Given the description of an element on the screen output the (x, y) to click on. 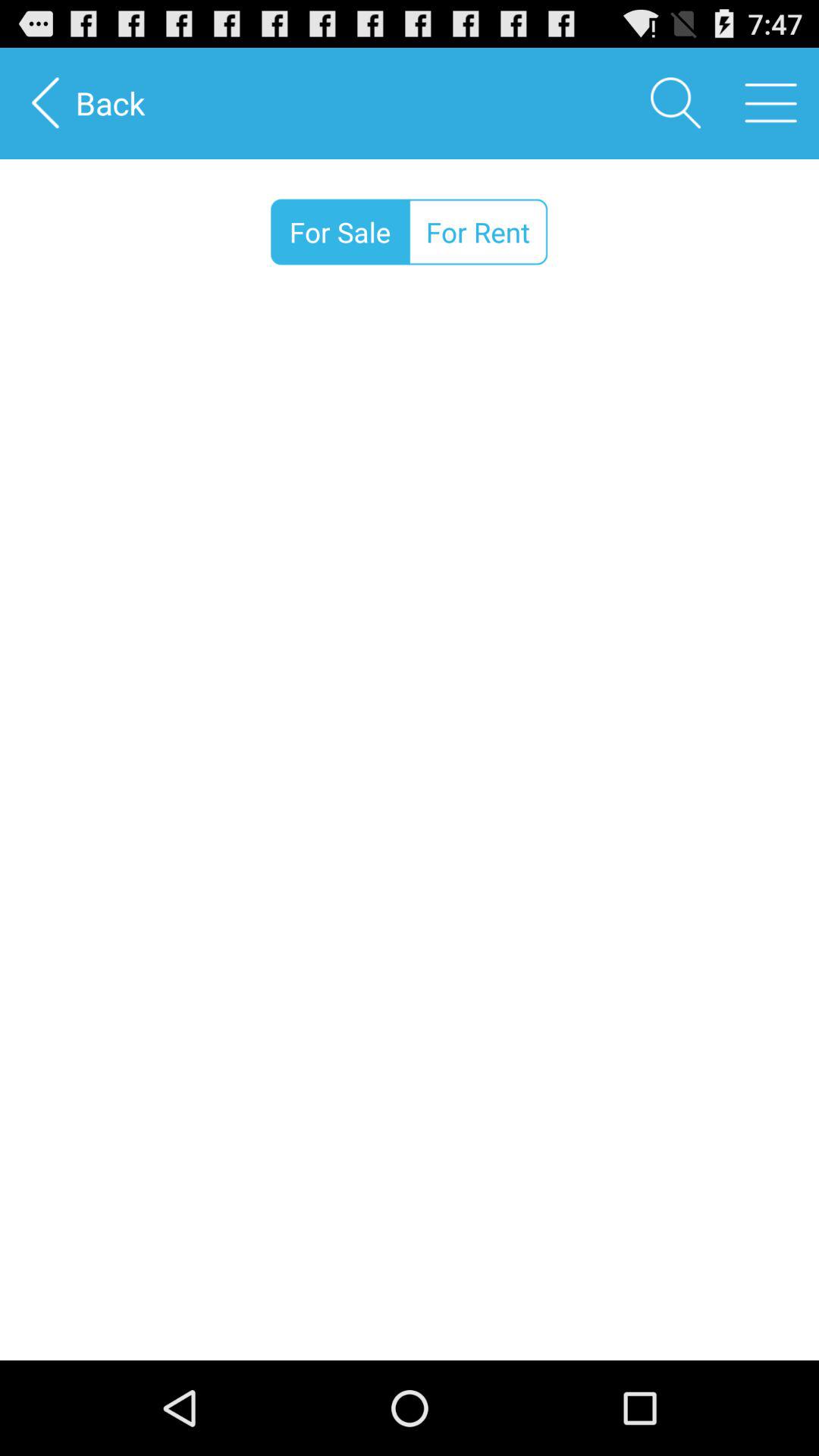
turn on the item below the for sale (409, 832)
